Given the description of an element on the screen output the (x, y) to click on. 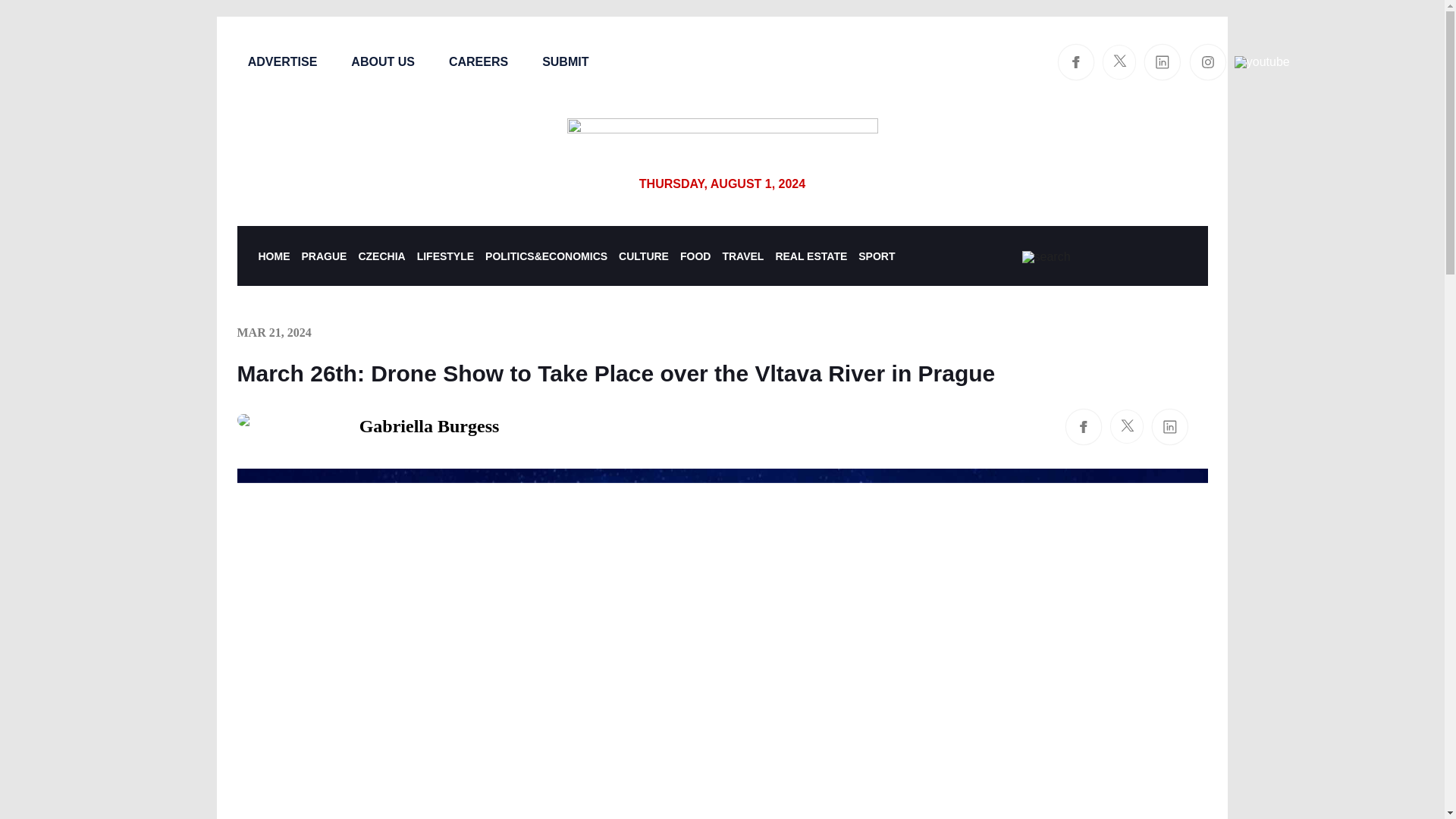
LIFESTYLE (445, 256)
Gabriella Burgess (367, 426)
CZECHIA (381, 256)
TRAVEL (742, 256)
SPORT (877, 256)
ADVERTISE (282, 61)
FOOD (694, 256)
HOME (273, 256)
ABOUT US (382, 61)
CAREERS (478, 61)
REAL ESTATE (810, 256)
SUBMIT (564, 61)
PRAGUE (324, 256)
CULTURE (643, 256)
